Given the description of an element on the screen output the (x, y) to click on. 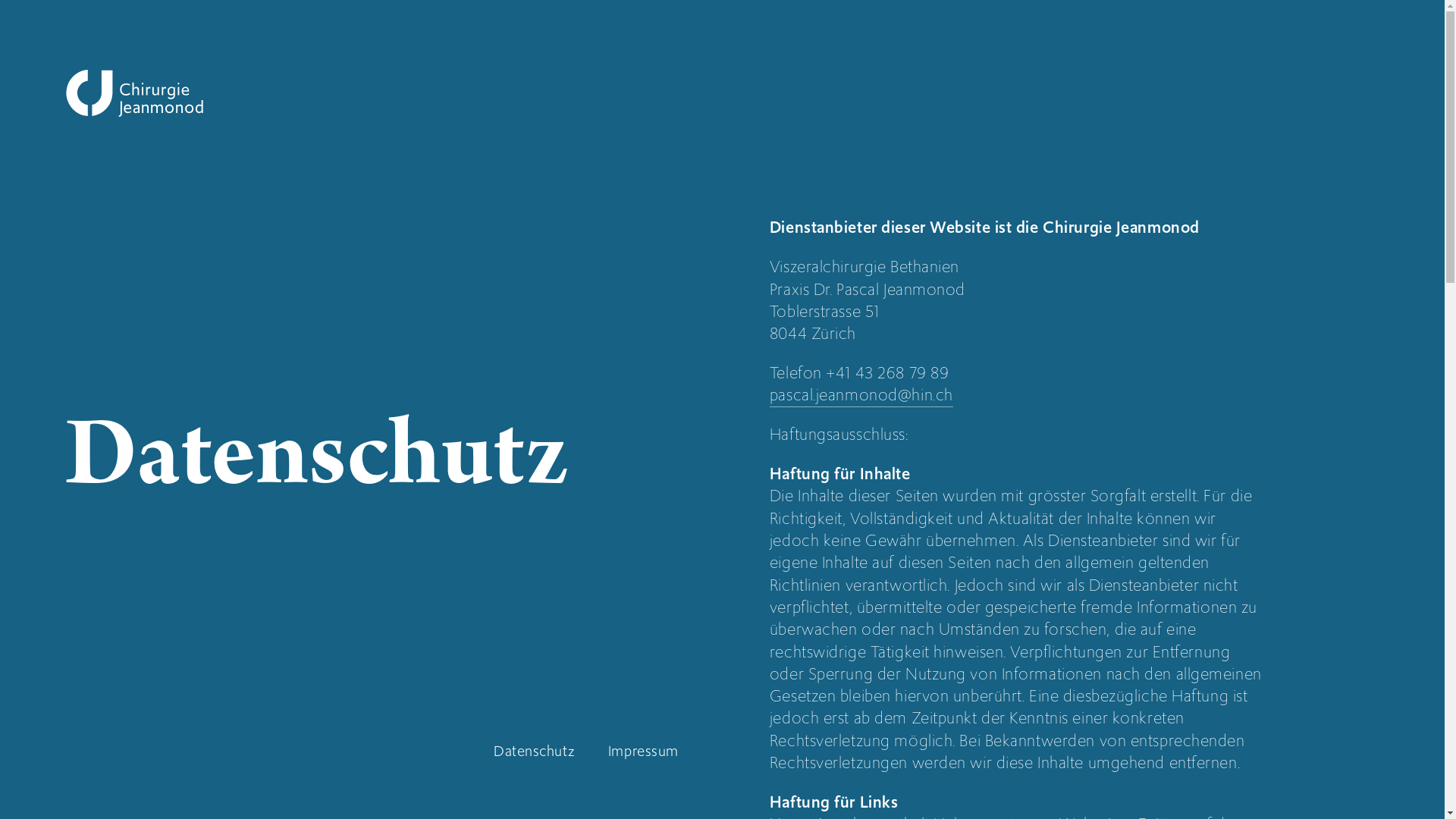
pascal.jeanmonod@hin.ch Element type: text (861, 394)
Datenschutz Element type: text (533, 750)
Chirurgie Jeanmonod Element type: hover (134, 93)
Impressum Element type: text (643, 750)
